Given the description of an element on the screen output the (x, y) to click on. 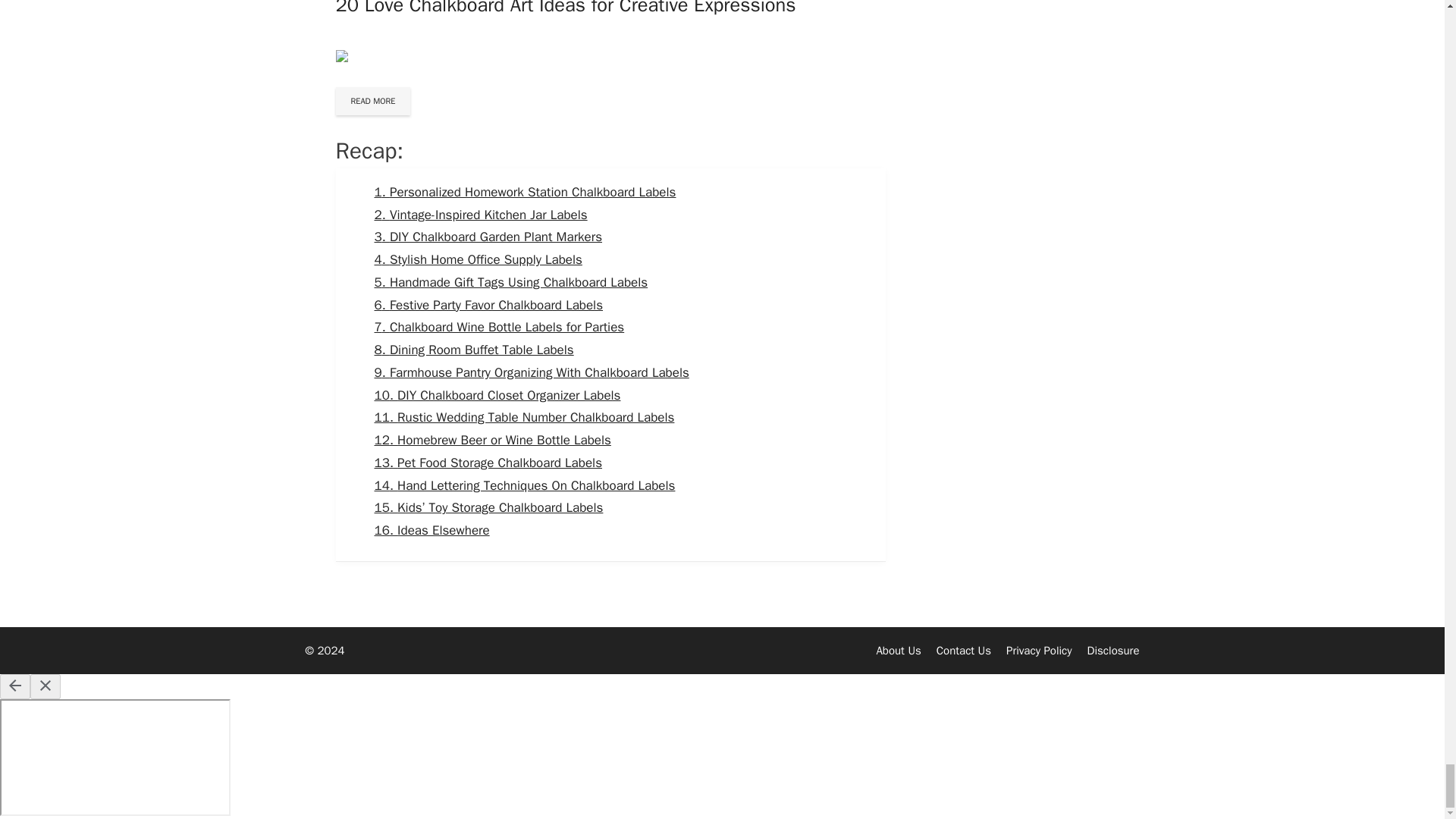
20 Love Chalkboard Art Ideas for Creative Expressions (564, 8)
Handmade Gift Tags Using Chalkboard Labels (510, 282)
DIY Chalkboard Garden Plant Markers (488, 236)
Festive Party Favor Chalkboard Labels (489, 304)
Dining Room Buffet Table Labels (473, 349)
Vintage-Inspired Kitchen Jar Labels (481, 214)
Farmhouse Pantry Organizing With Chalkboard Labels (531, 372)
Chalkboard Wine Bottle Labels for Parties (499, 326)
Stylish Home Office Supply Labels (478, 259)
20 Love Chalkboard Art Ideas for Creative Expressions (564, 8)
Personalized Homework Station Chalkboard Labels (525, 191)
READ MORE (372, 100)
